Given the description of an element on the screen output the (x, y) to click on. 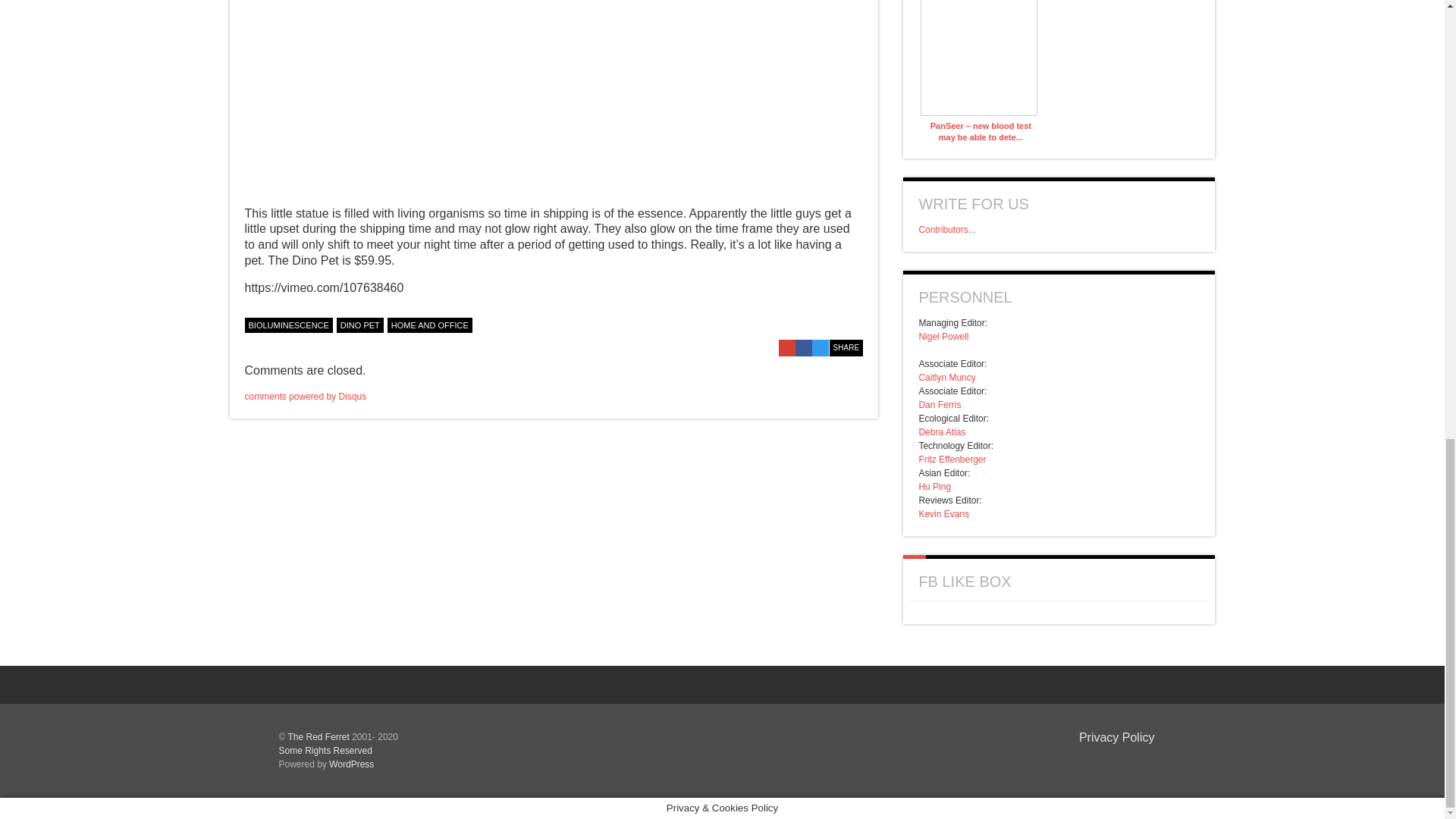
SHARE (846, 347)
Fritz Effenberger (951, 459)
HOME AND OFFICE (429, 324)
Nigel Powell (943, 336)
BIOLUMINESCENCE (287, 324)
Built by Bairwell (1130, 761)
Debra Atlas (941, 431)
Contributors... (946, 229)
comments powered by Disqus (305, 396)
Dan Ferris (939, 404)
DINO PET (360, 324)
I like this article (855, 322)
Caitlyn Muncy (946, 377)
